Given the description of an element on the screen output the (x, y) to click on. 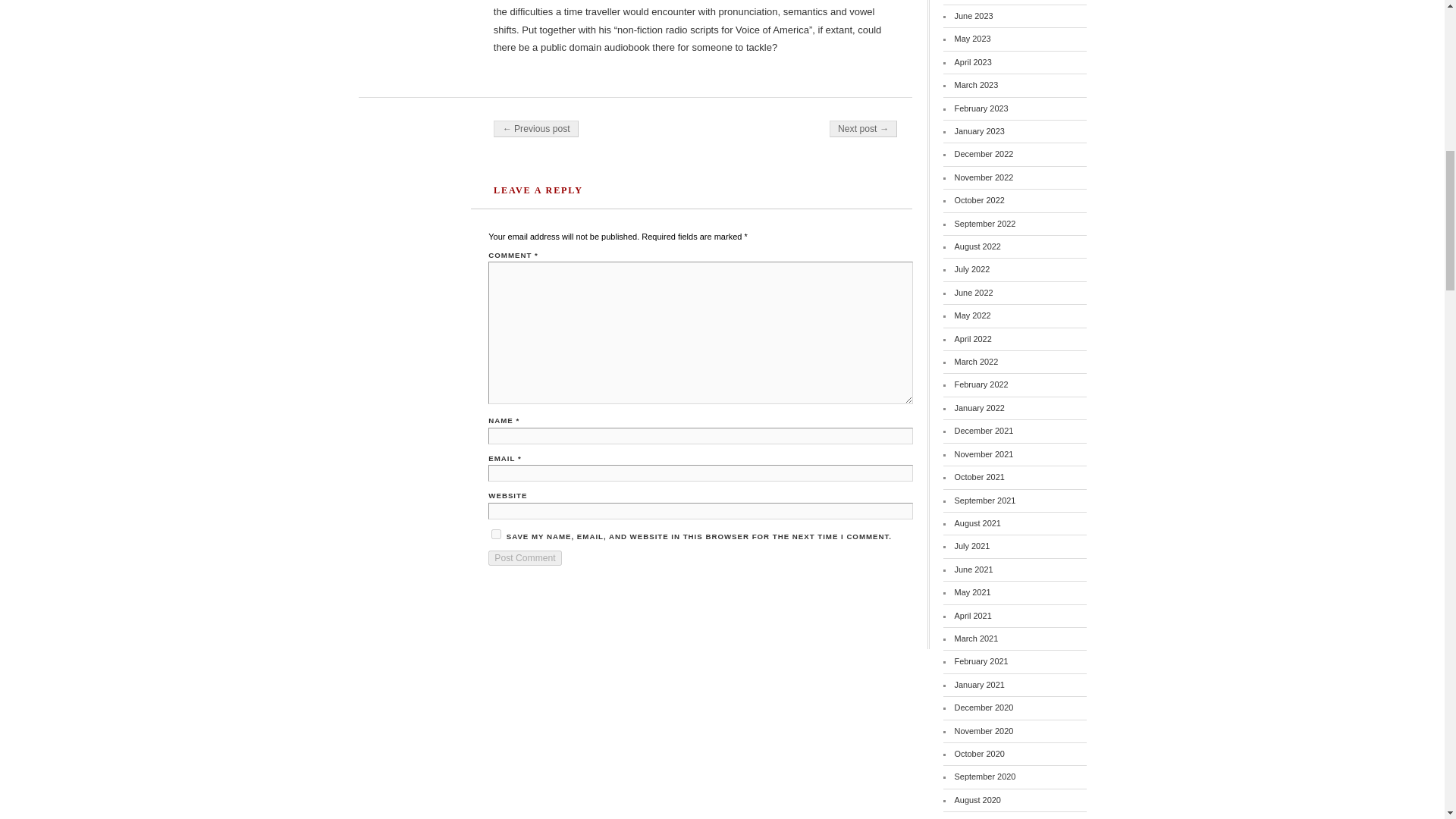
Post Comment (523, 557)
yes (496, 533)
Post Comment (523, 557)
